Given the description of an element on the screen output the (x, y) to click on. 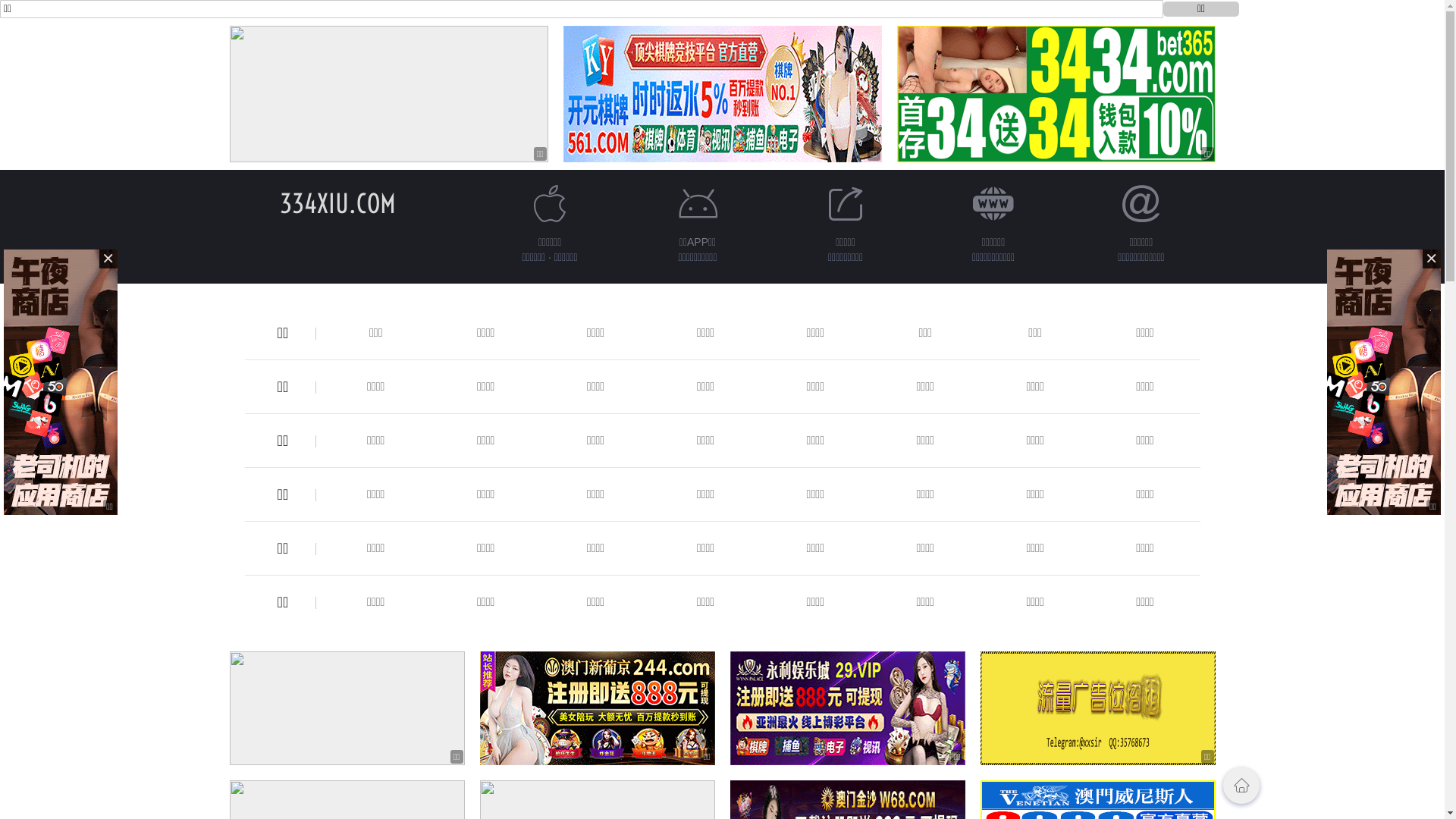
334XIU.COM Element type: text (337, 203)
